Given the description of an element on the screen output the (x, y) to click on. 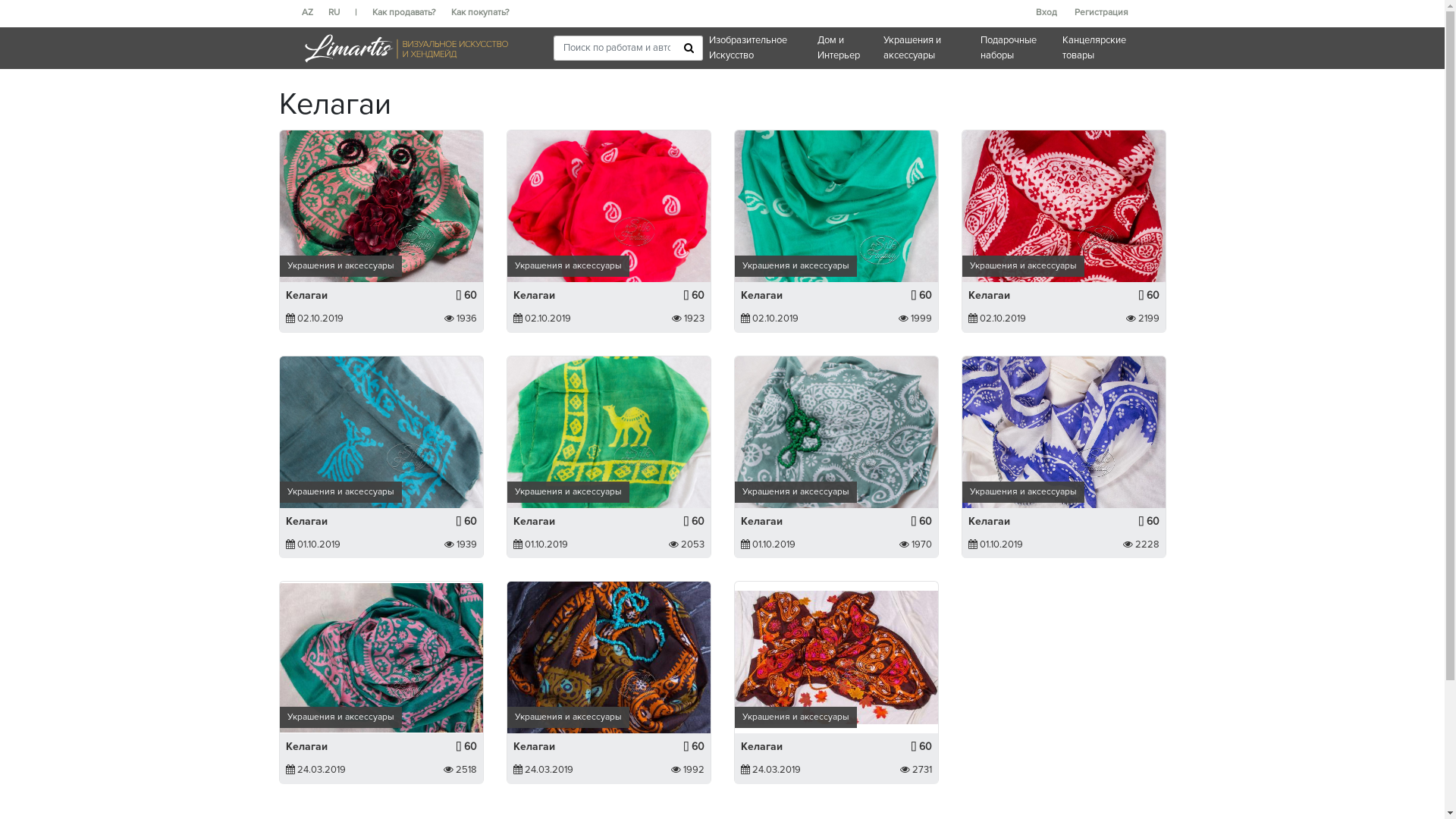
AZ Element type: text (314, 12)
| Element type: text (363, 12)
RU Element type: text (340, 12)
